Given the description of an element on the screen output the (x, y) to click on. 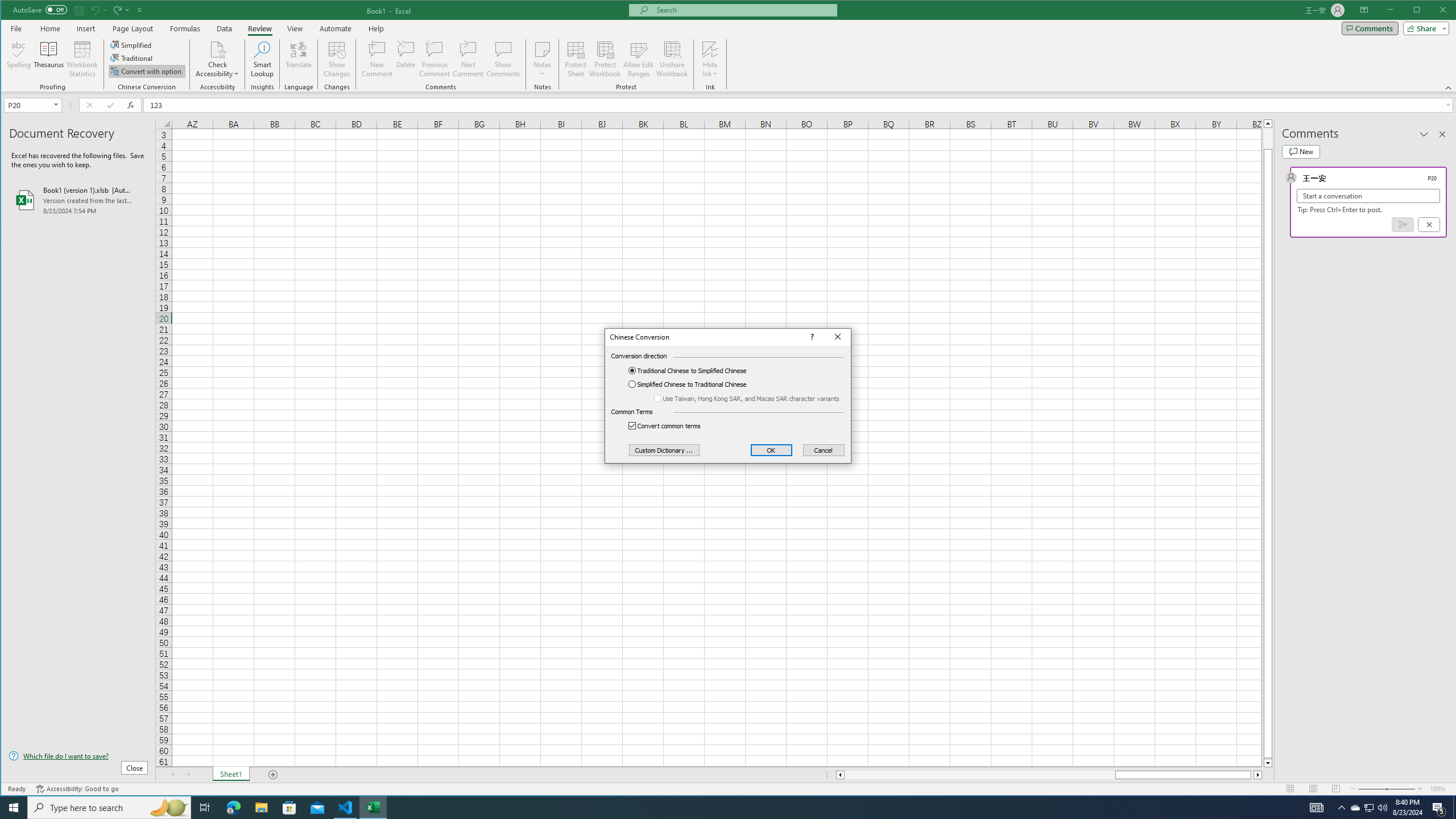
Start a conversation (1368, 195)
Maximize (1432, 11)
User Promoted Notification Area (1368, 807)
Microsoft Edge (233, 807)
Custom Dictionary ... (664, 450)
Allow Edit Ranges (638, 59)
Visual Studio Code - 1 running window (345, 807)
